Given the description of an element on the screen output the (x, y) to click on. 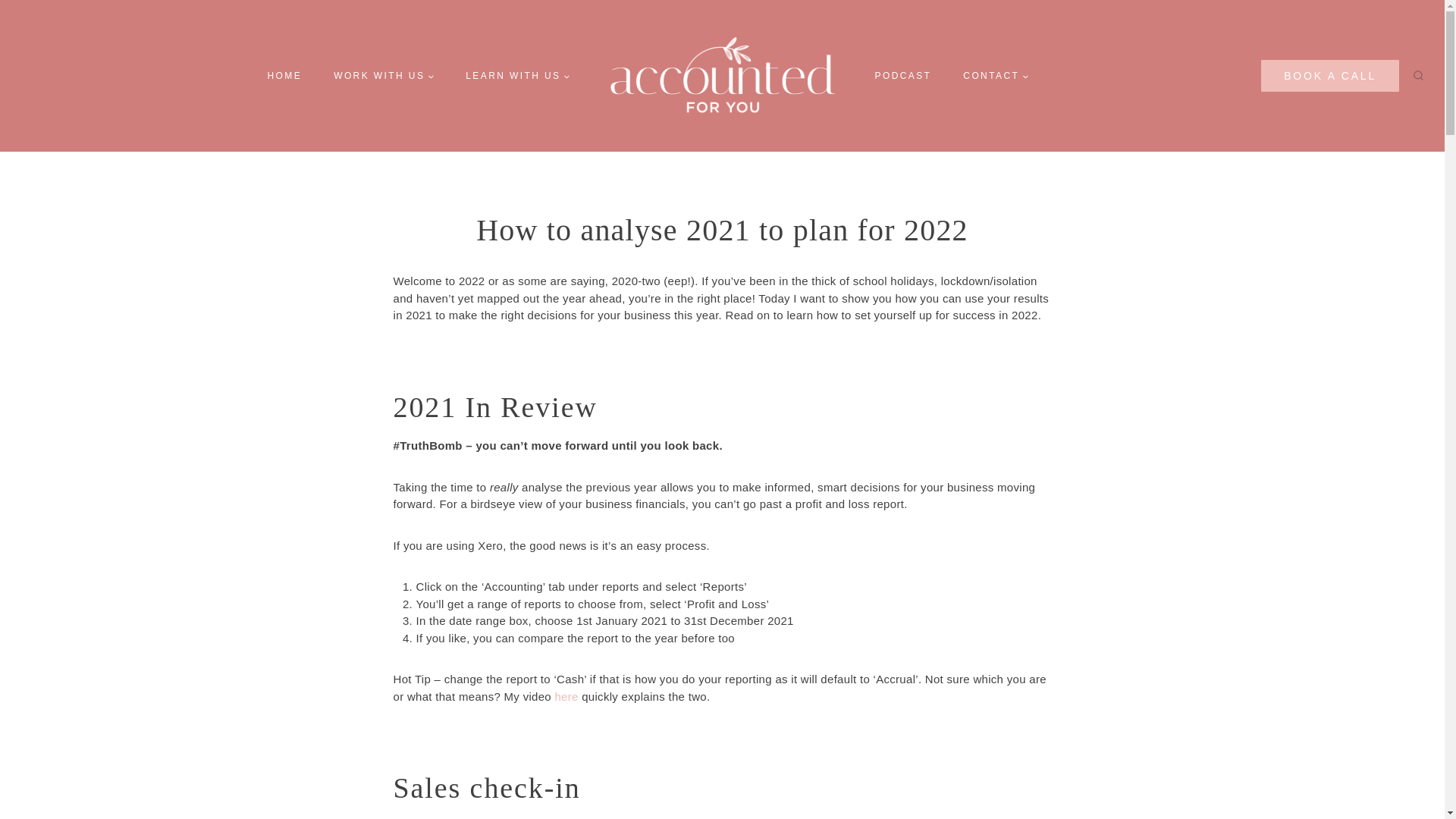
HOME (284, 75)
CONTACT (995, 75)
here (566, 696)
WORK WITH US (383, 75)
PODCAST (903, 75)
LEARN WITH US (517, 75)
BOOK A CALL (1329, 75)
